Given the description of an element on the screen output the (x, y) to click on. 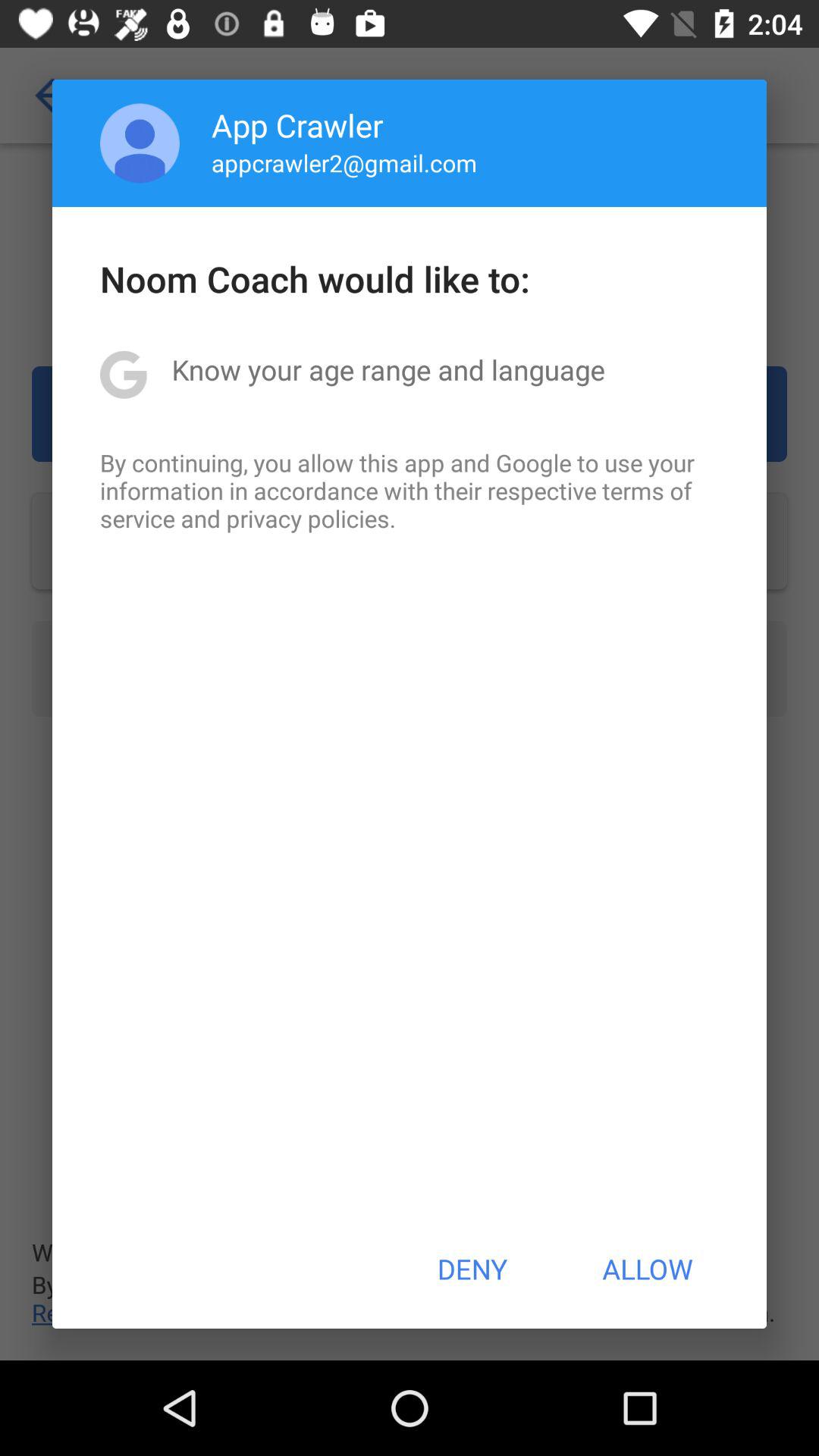
jump until the app crawler (297, 124)
